Given the description of an element on the screen output the (x, y) to click on. 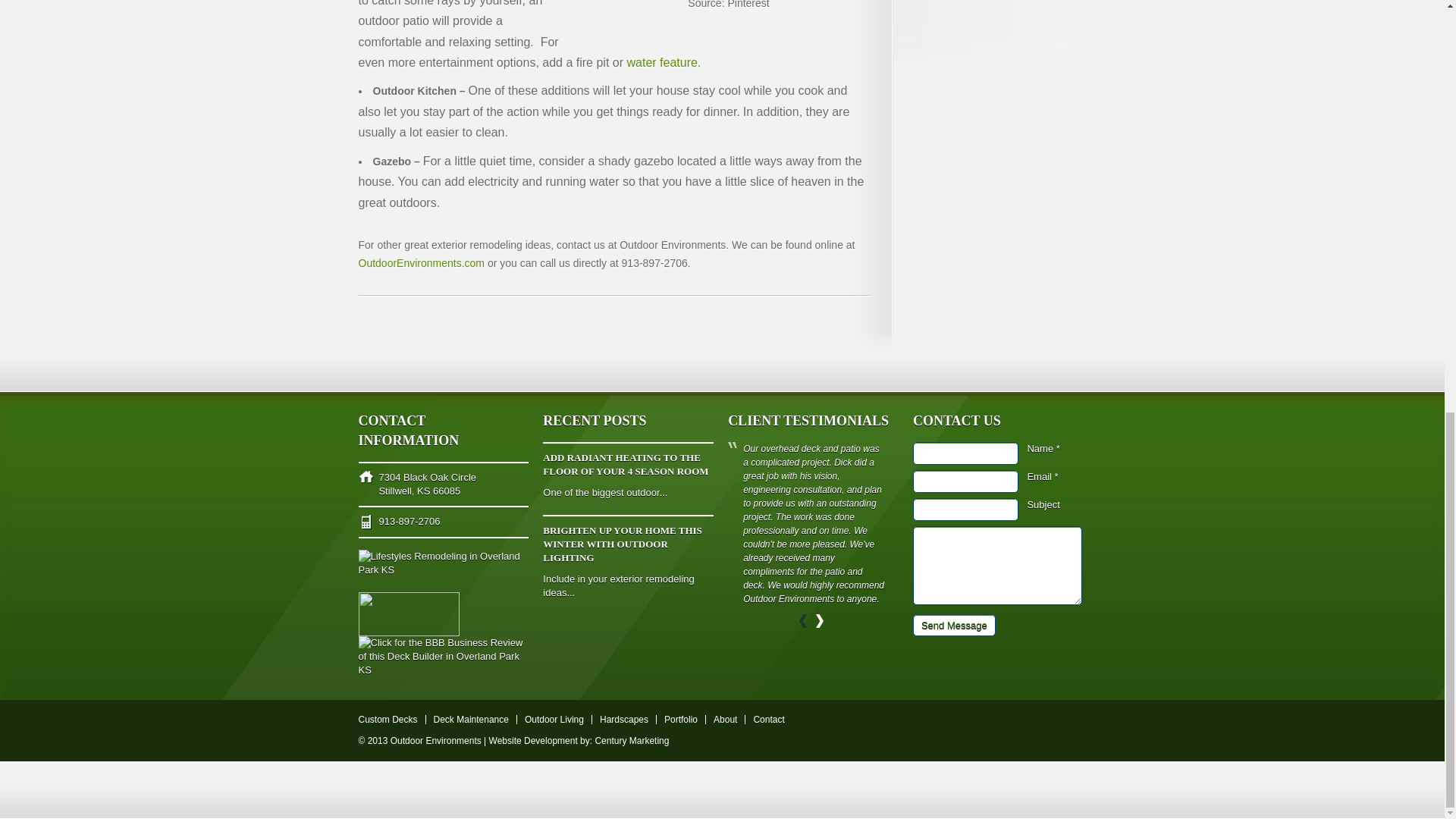
water feature. (663, 62)
OutdoorEnvironments.com (421, 263)
Send Message (953, 625)
